Given the description of an element on the screen output the (x, y) to click on. 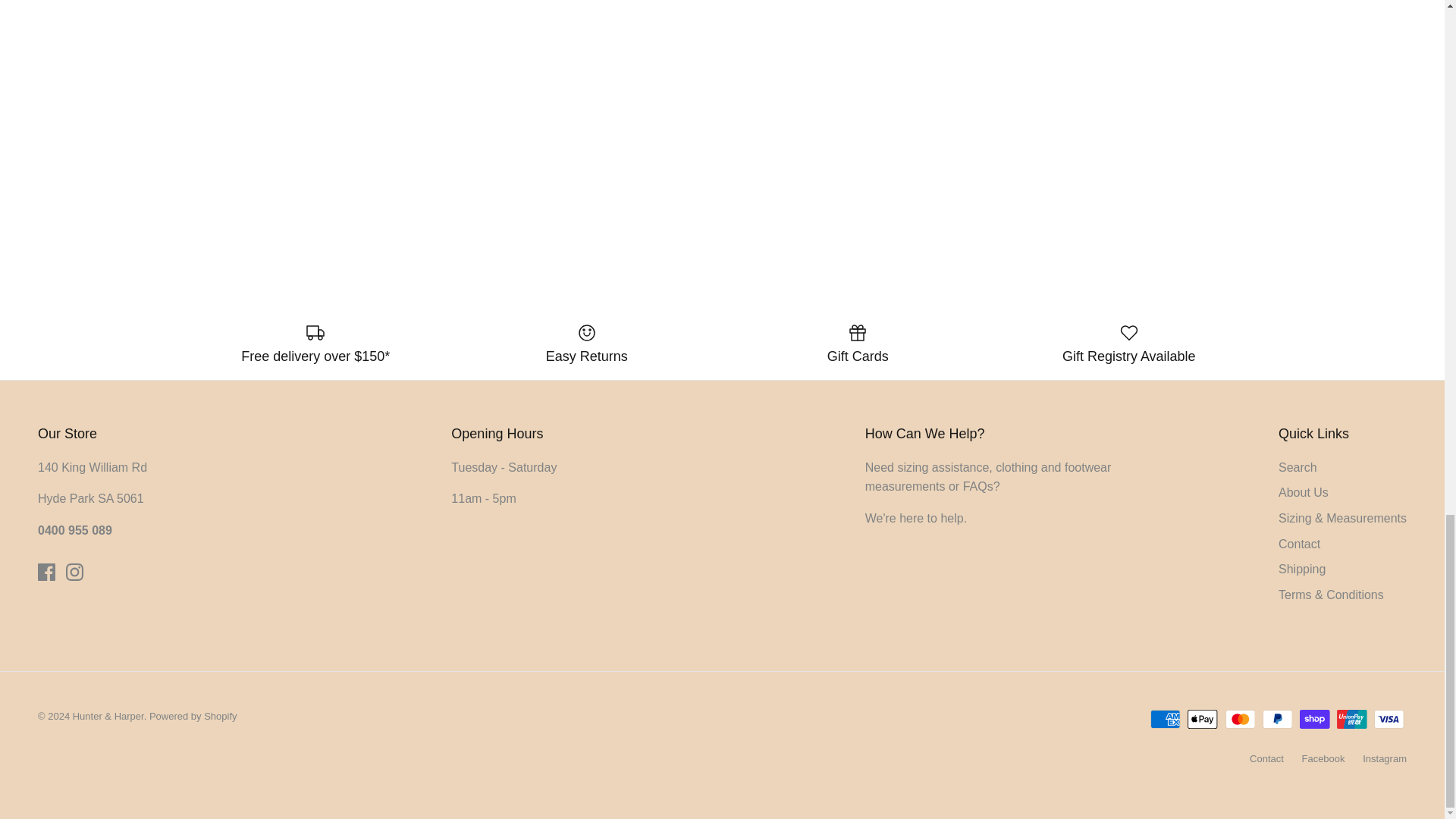
Facebook (46, 571)
Union Pay (1351, 719)
How Can We Help? (915, 517)
Shop Pay (1314, 719)
PayPal (1277, 719)
Instagram (73, 571)
Mastercard (1240, 719)
Apple Pay (1202, 719)
American Express (1165, 719)
